Given the description of an element on the screen output the (x, y) to click on. 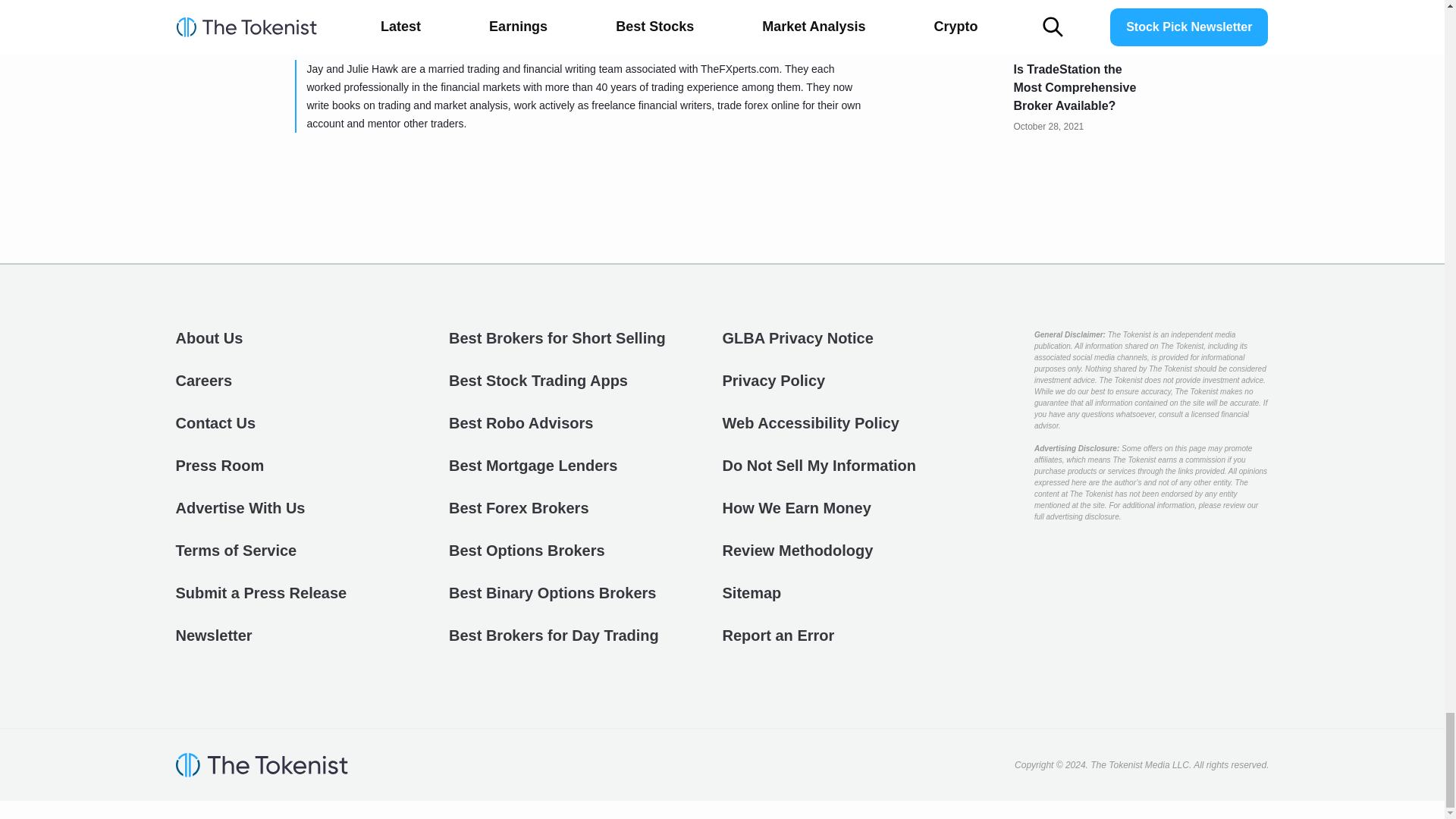
Press Room (220, 465)
Contact Us (216, 422)
Email (508, 26)
Advertise With Us (240, 507)
About Us (209, 337)
Careers (204, 380)
Jay and Julie Hawk (397, 25)
Terms of Service (236, 549)
